Given the description of an element on the screen output the (x, y) to click on. 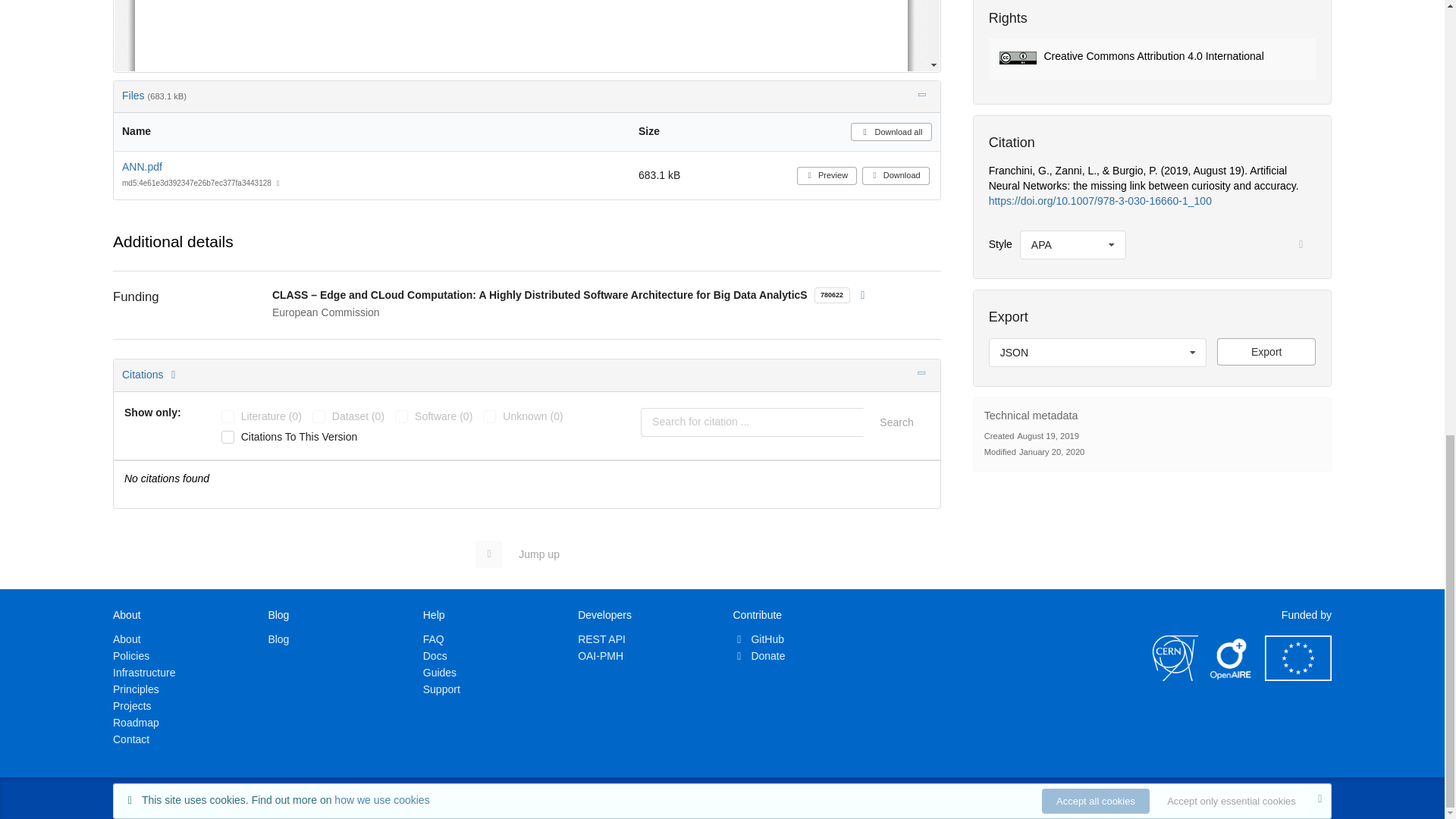
Contact (131, 739)
Principles (135, 689)
Preview (826, 176)
Download (895, 176)
Export (1266, 351)
ANN.pdf (141, 166)
Jump up (525, 554)
Roadmap (135, 722)
Infrastructure (143, 672)
Download file (1266, 351)
Blog (277, 639)
Search (895, 421)
Download all (890, 131)
Projects (132, 705)
About (127, 639)
